Given the description of an element on the screen output the (x, y) to click on. 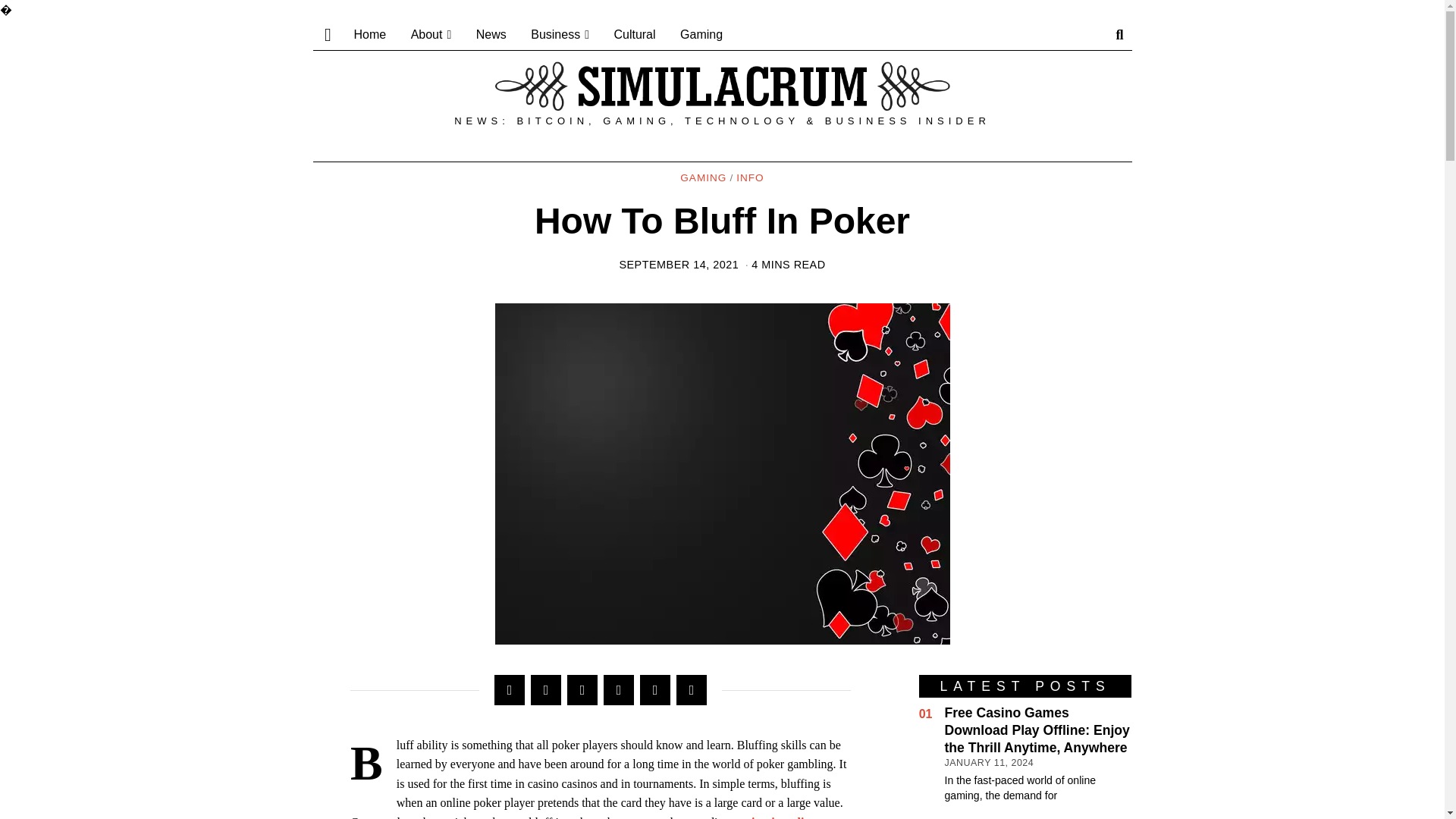
GAMING (702, 178)
INFO (749, 178)
Gaming (701, 34)
About (431, 34)
Home (369, 34)
News (490, 34)
qiu qiu online (779, 817)
Business (559, 34)
Cultural (633, 34)
